Given the description of an element on the screen output the (x, y) to click on. 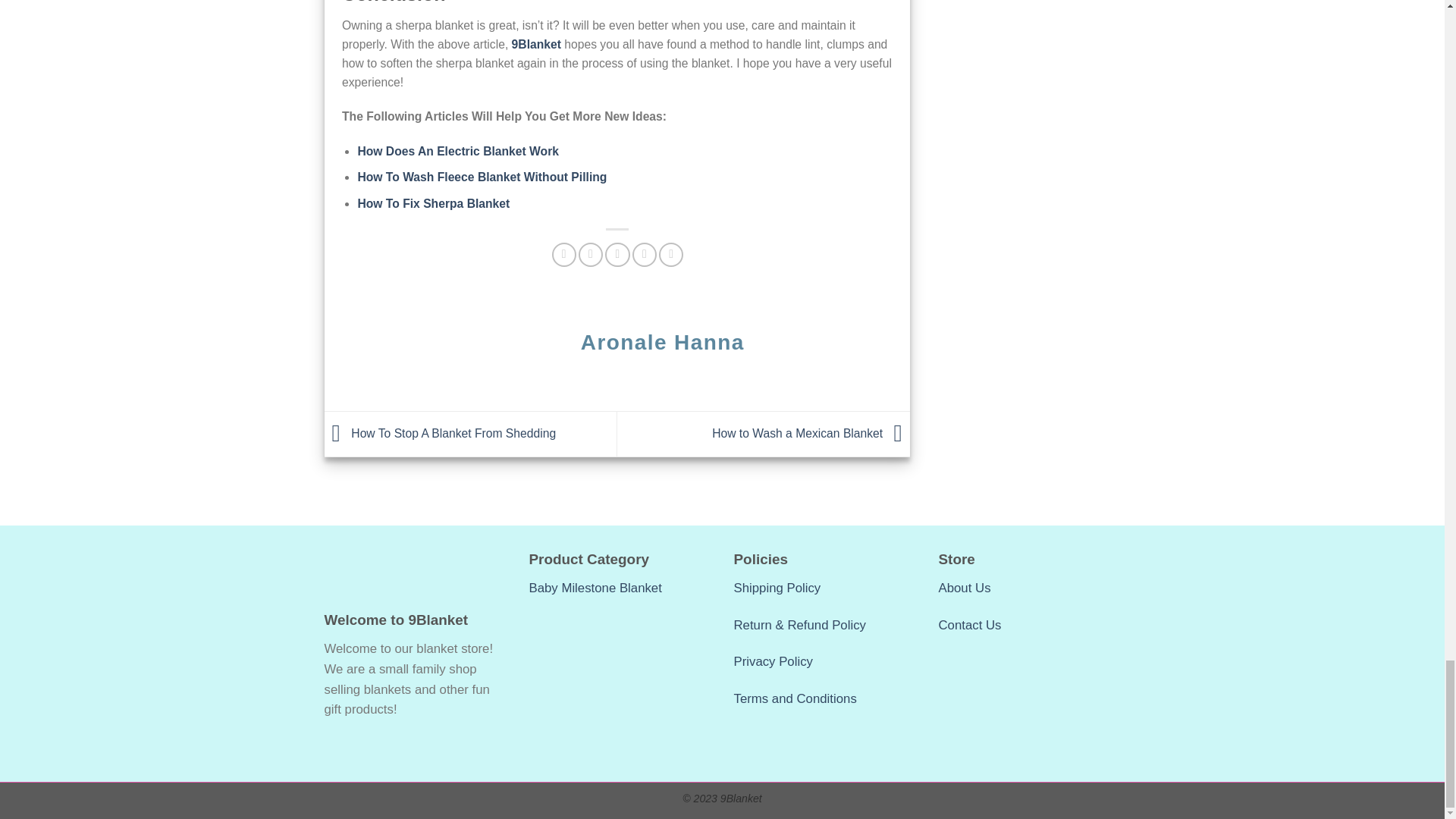
How Does An Electric Blanket Work (457, 151)
How To Fix Sherpa Blanket (432, 203)
How To Wash Fleece Blanket Without Pilling (481, 176)
Share on Facebook (563, 254)
Pin on Pinterest (643, 254)
Share on Twitter (590, 254)
Share on LinkedIn (670, 254)
9Blanket (538, 43)
Email to a Friend (616, 254)
